Given the description of an element on the screen output the (x, y) to click on. 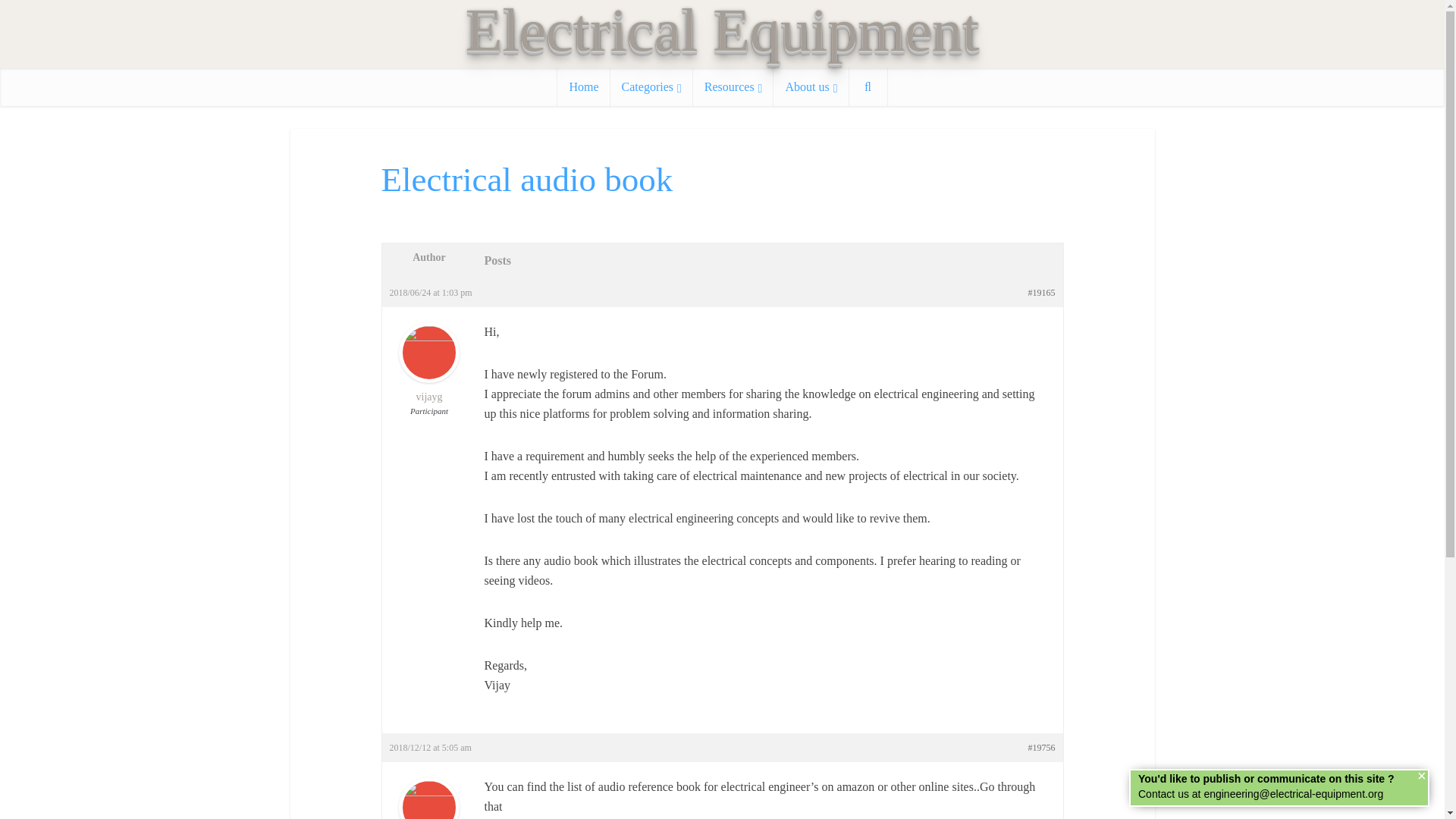
Resources (733, 86)
Home (583, 86)
Electrical Equipment (722, 30)
About us (810, 86)
View vijayg's profile (429, 376)
Categories (651, 86)
View pranus's profile (429, 811)
